Given the description of an element on the screen output the (x, y) to click on. 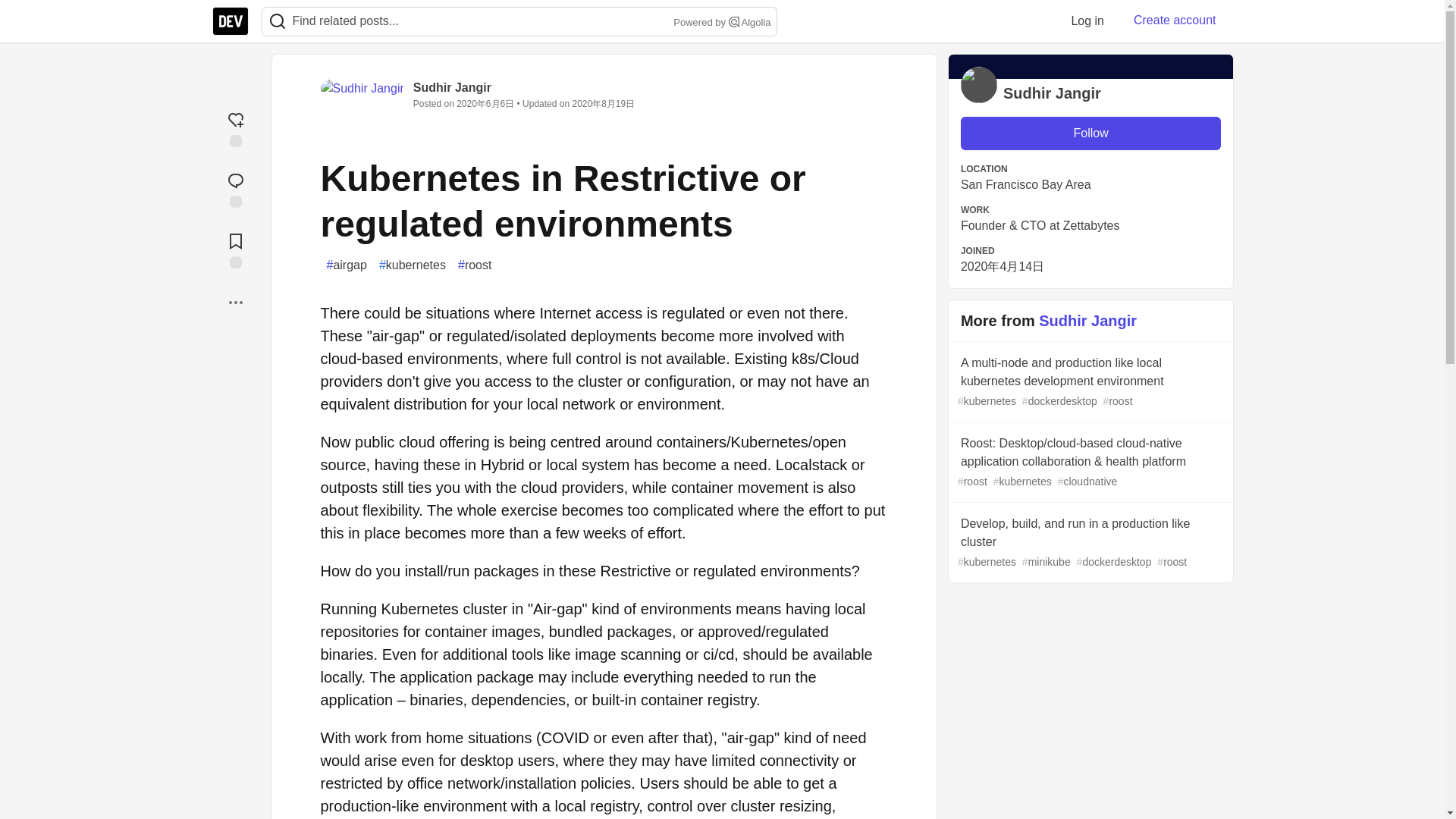
More... (234, 302)
More... (234, 302)
Sudhir Jangir (452, 87)
Search (734, 21)
Log in (1087, 20)
Powered by Search Algolia (720, 22)
Create account (1174, 20)
Search (277, 21)
Search (276, 21)
